Given the description of an element on the screen output the (x, y) to click on. 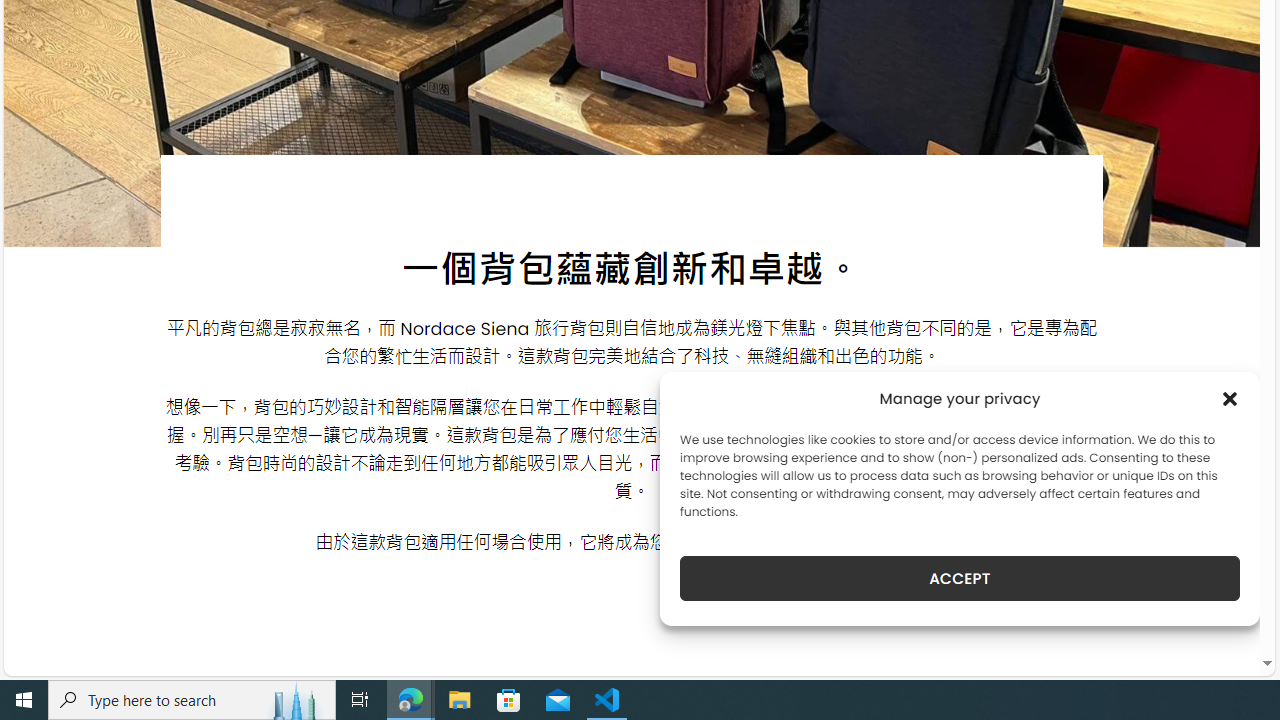
ACCEPT (959, 578)
Visual Studio Code - 1 running window (607, 699)
Microsoft Store (509, 699)
Class: cmplz-close (1229, 398)
Search highlights icon opens search home window (295, 699)
File Explorer (460, 699)
Microsoft Edge - 2 running windows (411, 699)
Type here to search (191, 699)
Start (24, 699)
Task View (359, 699)
